Given the description of an element on the screen output the (x, y) to click on. 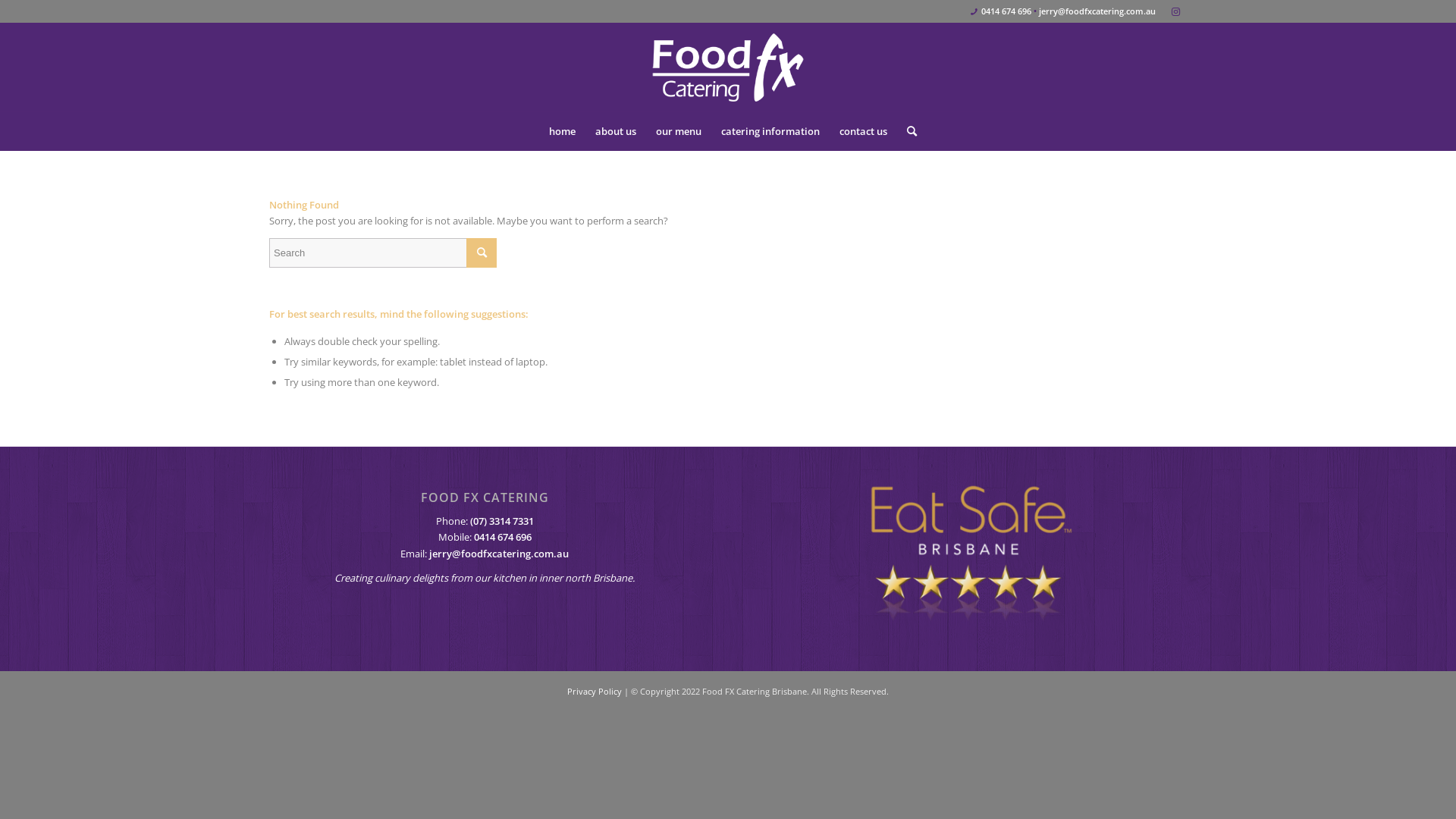
home Element type: text (562, 131)
catering information Element type: text (770, 131)
Instagram Element type: hover (1175, 11)
(07) 3314 7331 Element type: text (501, 520)
0414 674 696 Element type: text (502, 536)
jerry@foodfxcatering.com.au Element type: text (1096, 10)
Privacy Policy Element type: text (594, 690)
contact us Element type: text (863, 131)
jerry@foodfxcatering.com.au Element type: text (498, 553)
about us Element type: text (615, 131)
Food FX Catering Logo Element type: hover (727, 67)
0414 674 696 Element type: text (1006, 10)
our menu Element type: text (678, 131)
